Given the description of an element on the screen output the (x, y) to click on. 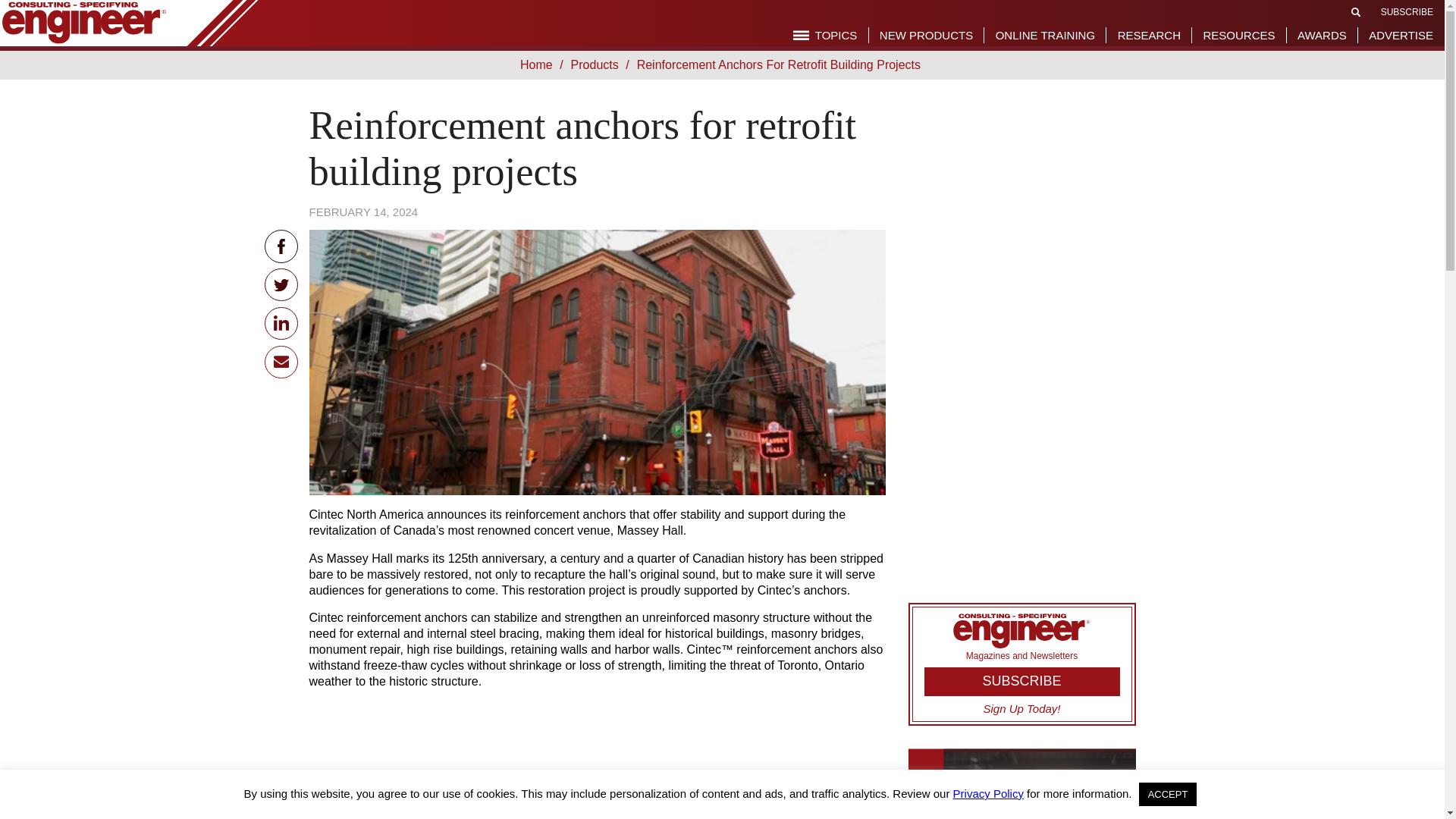
RESEARCH (1149, 34)
TOPICS (824, 34)
Products (598, 64)
AWARDS (1321, 34)
NEW PRODUCTS (925, 34)
RESOURCES (1238, 34)
ONLINE TRAINING (1045, 34)
Search (1356, 11)
SUBSCRIBE (1406, 11)
Twitter (280, 284)
Home (539, 64)
Email (280, 361)
Facebook (280, 246)
Reinforcement Anchors For Retrofit Building Projects (780, 64)
LinkedIn (280, 323)
